Given the description of an element on the screen output the (x, y) to click on. 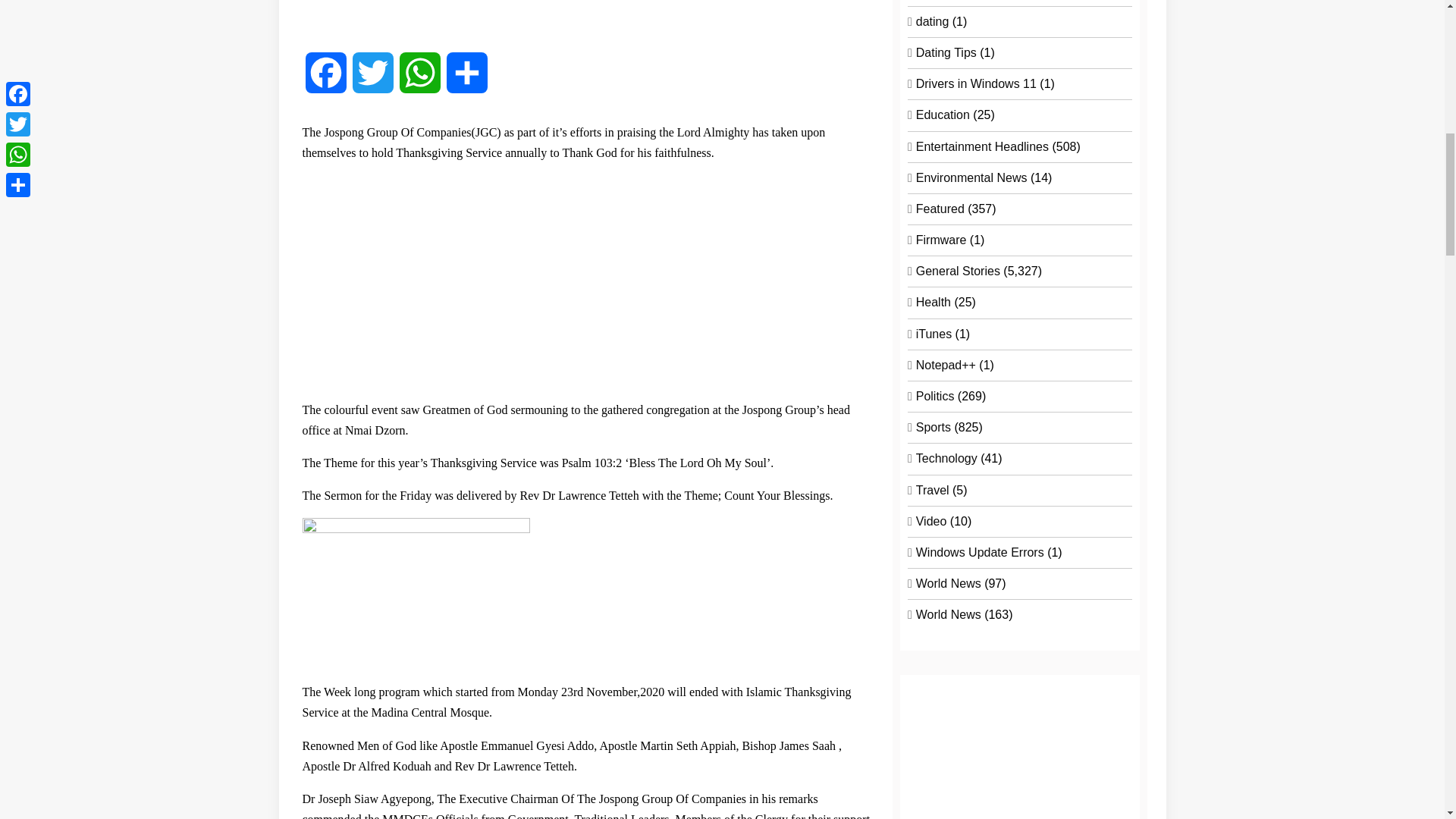
Advertisement (585, 281)
